Given the description of an element on the screen output the (x, y) to click on. 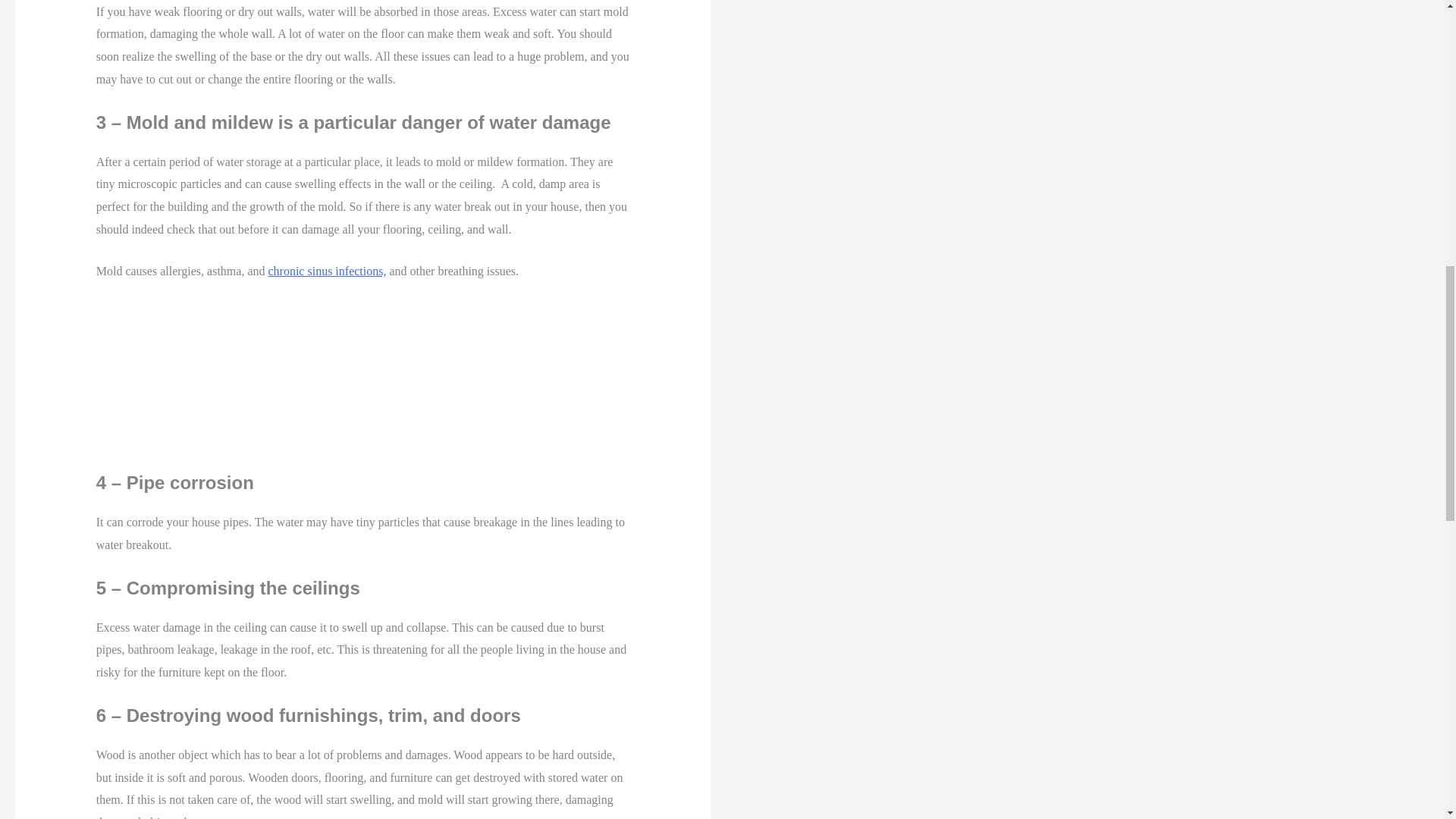
chronic sinus infections, (326, 270)
